Given the description of an element on the screen output the (x, y) to click on. 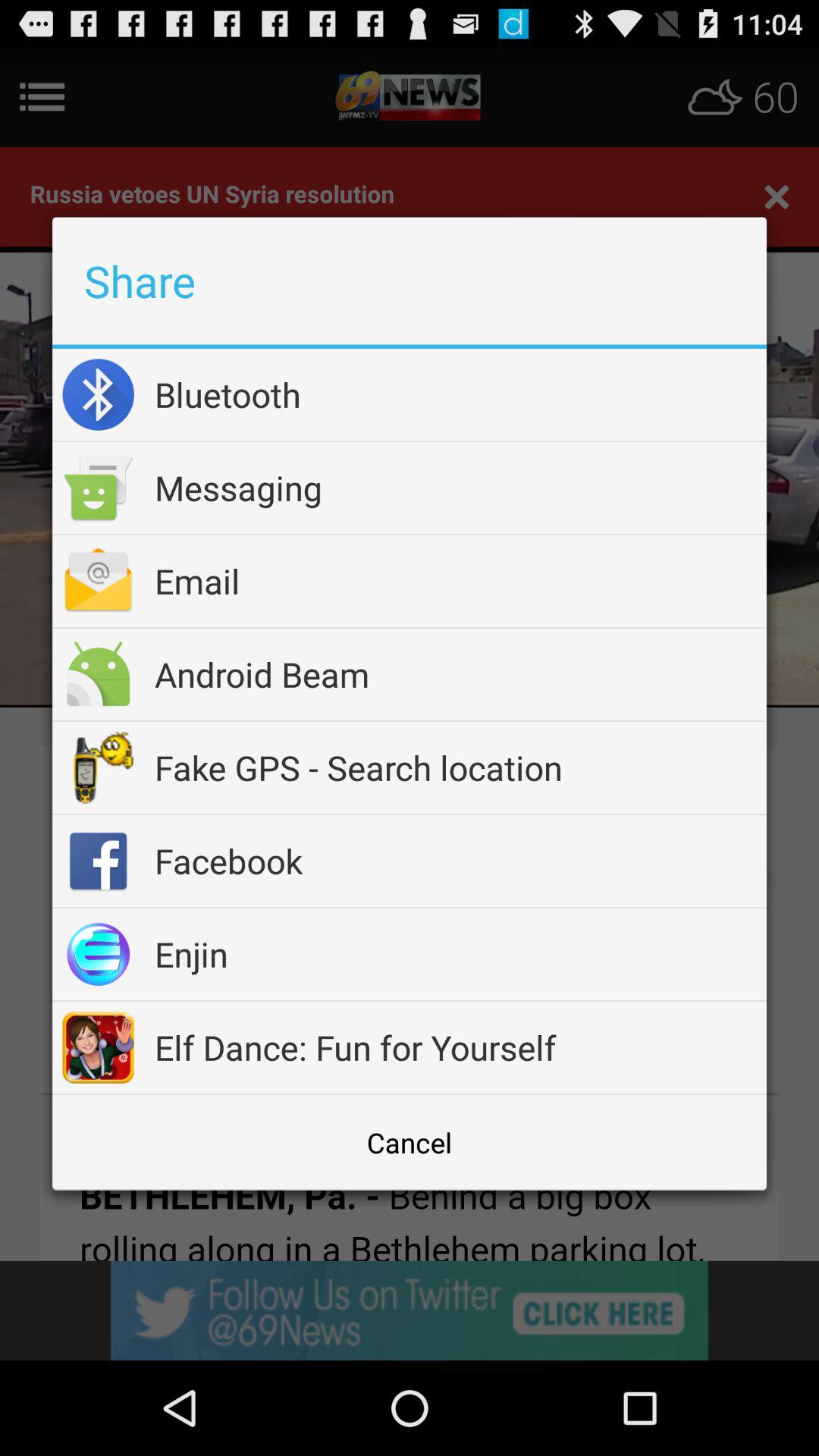
click cancel button (409, 1142)
